Given the description of an element on the screen output the (x, y) to click on. 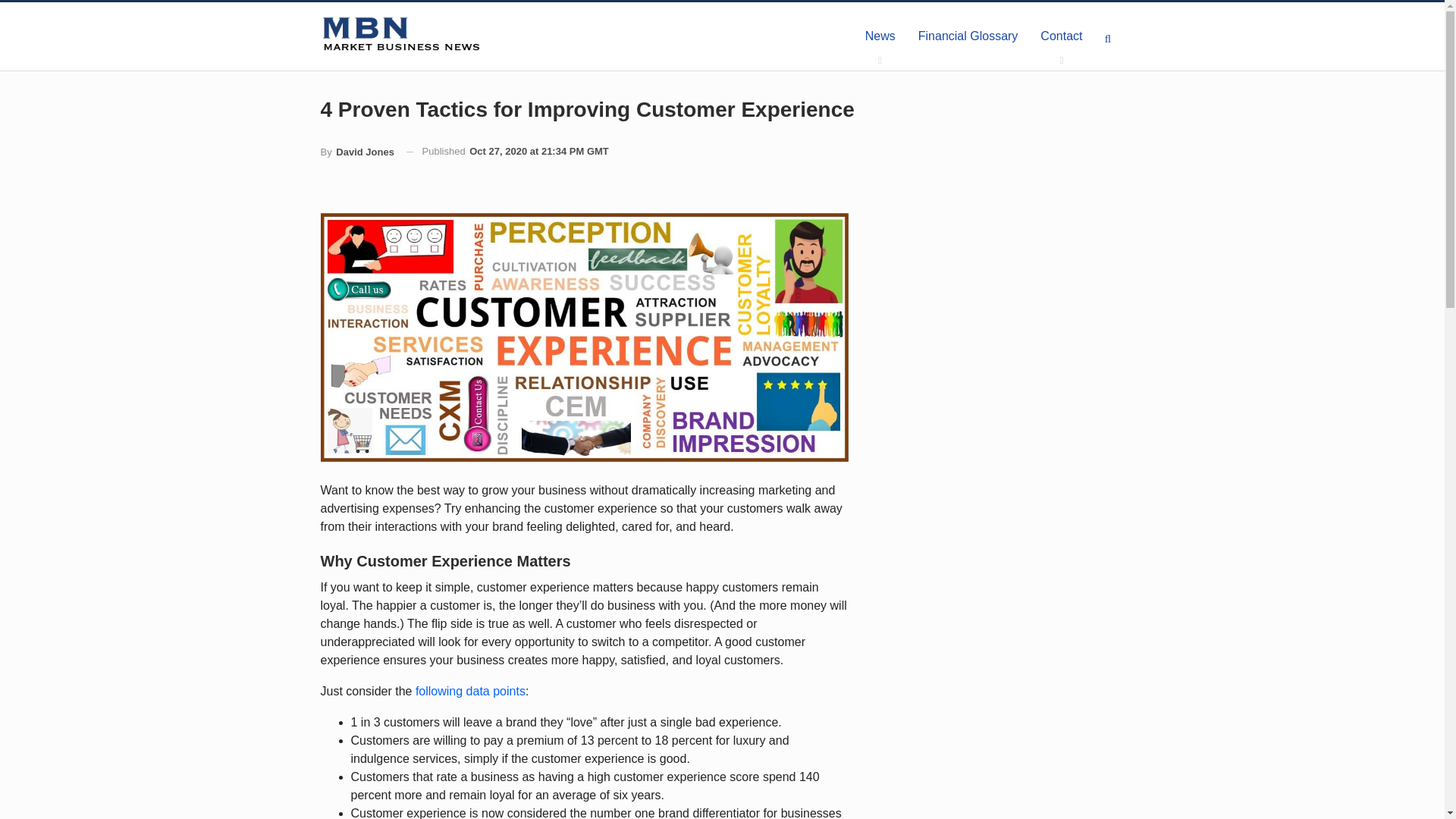
Financial Glossary (968, 36)
By David Jones (356, 152)
following data points (469, 690)
Contact (1061, 36)
Browse Author Articles (356, 152)
